Given the description of an element on the screen output the (x, y) to click on. 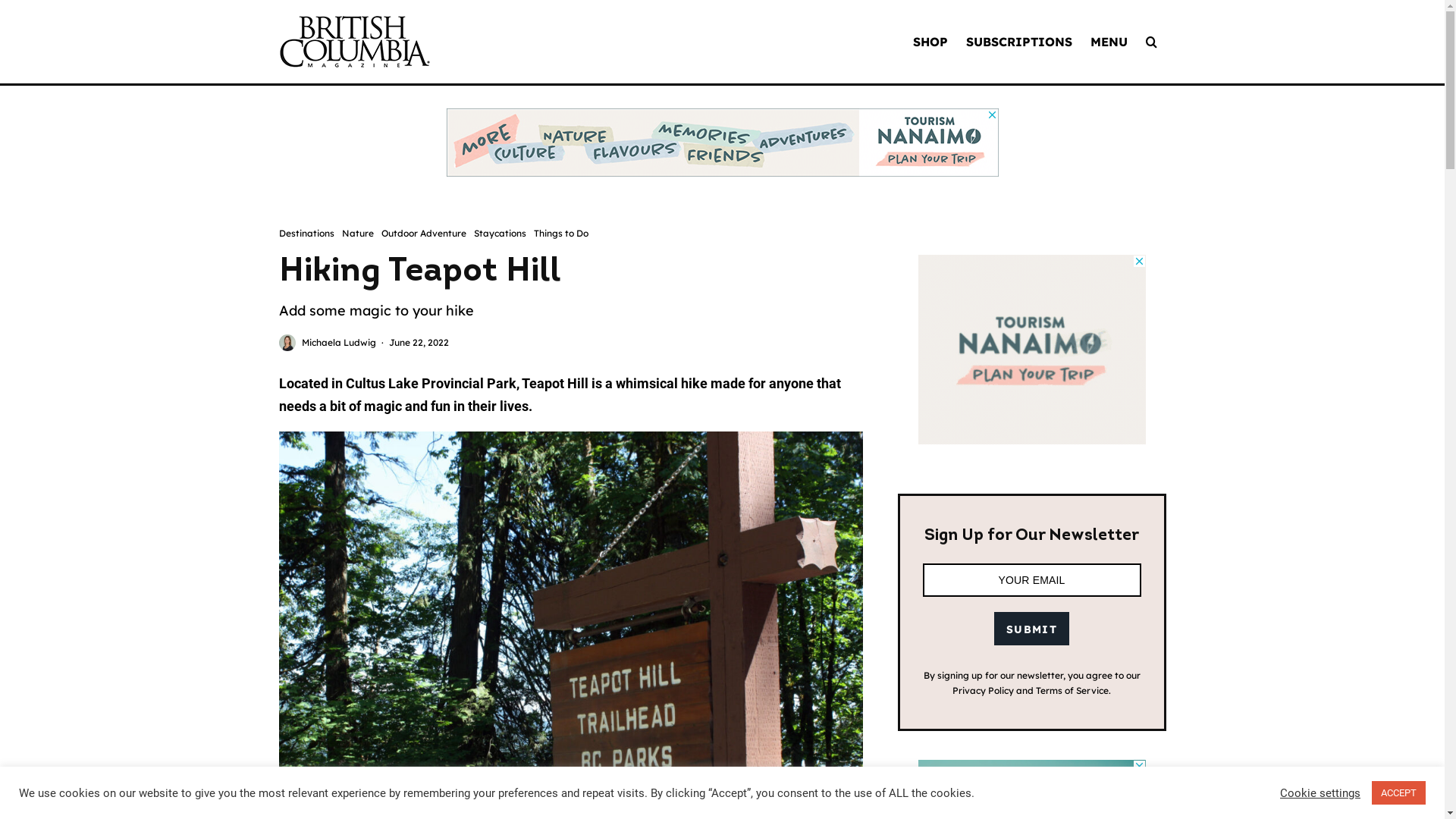
Outdoor Adventure Element type: text (422, 233)
3rd party ad content Element type: hover (1031, 349)
MENU Element type: text (1108, 41)
SUBSCRIPTIONS Element type: text (1019, 41)
SHOP Element type: text (930, 41)
Michaela Ludwig Element type: text (338, 342)
Destinations Element type: text (306, 233)
Nature Element type: text (357, 233)
Staycations Element type: text (499, 233)
Things to Do Element type: text (560, 233)
SUBMIT Element type: text (1031, 628)
ACCEPT Element type: text (1398, 792)
Cookie settings Element type: text (1320, 792)
3rd party ad content Element type: hover (721, 142)
